Given the description of an element on the screen output the (x, y) to click on. 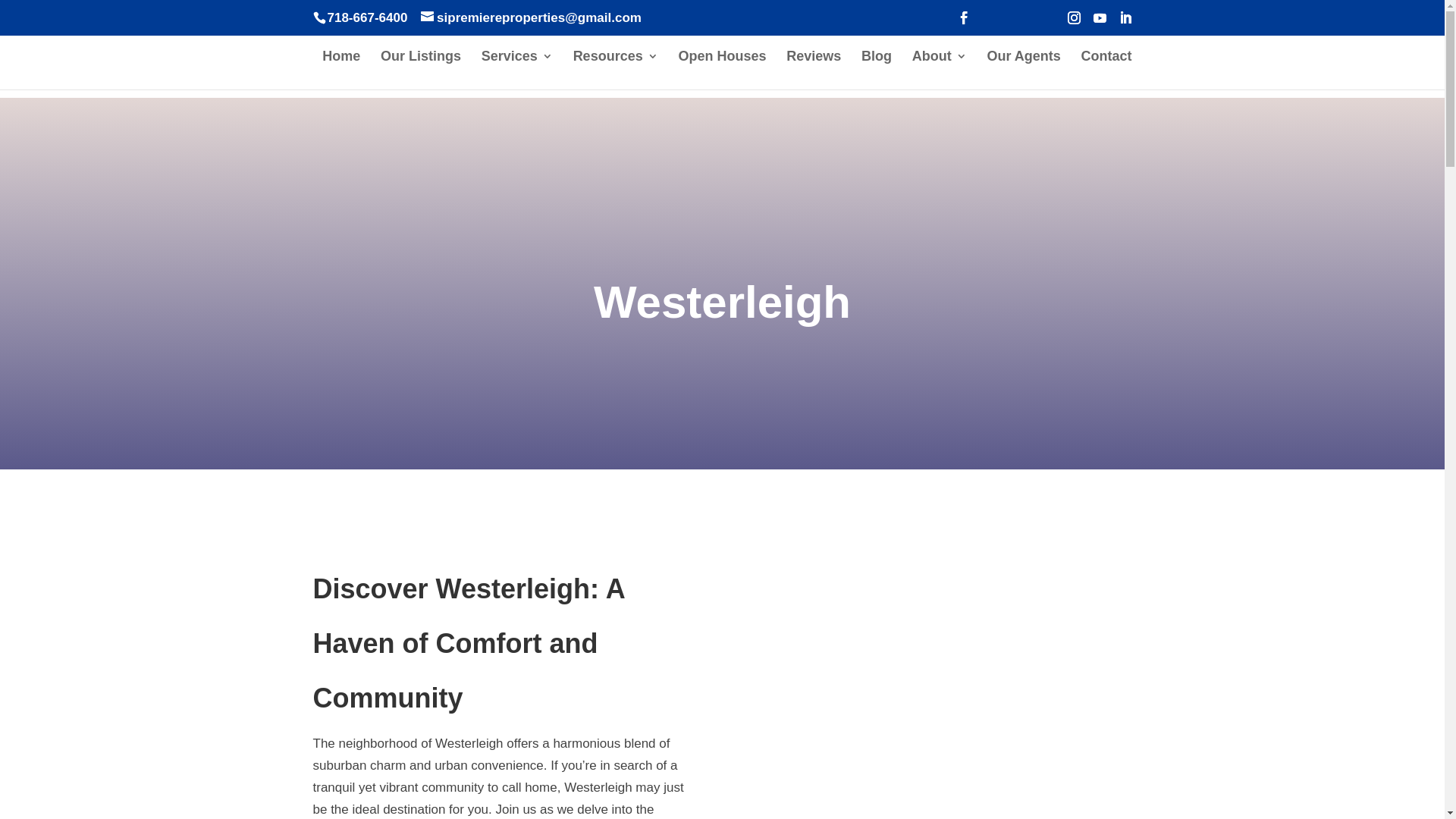
Contact (1106, 69)
Our Listings (420, 69)
Reviews (813, 69)
Resources (615, 69)
Home (340, 69)
Our Agents (1023, 69)
Services (517, 69)
Open Houses (721, 69)
About (939, 69)
